Given the description of an element on the screen output the (x, y) to click on. 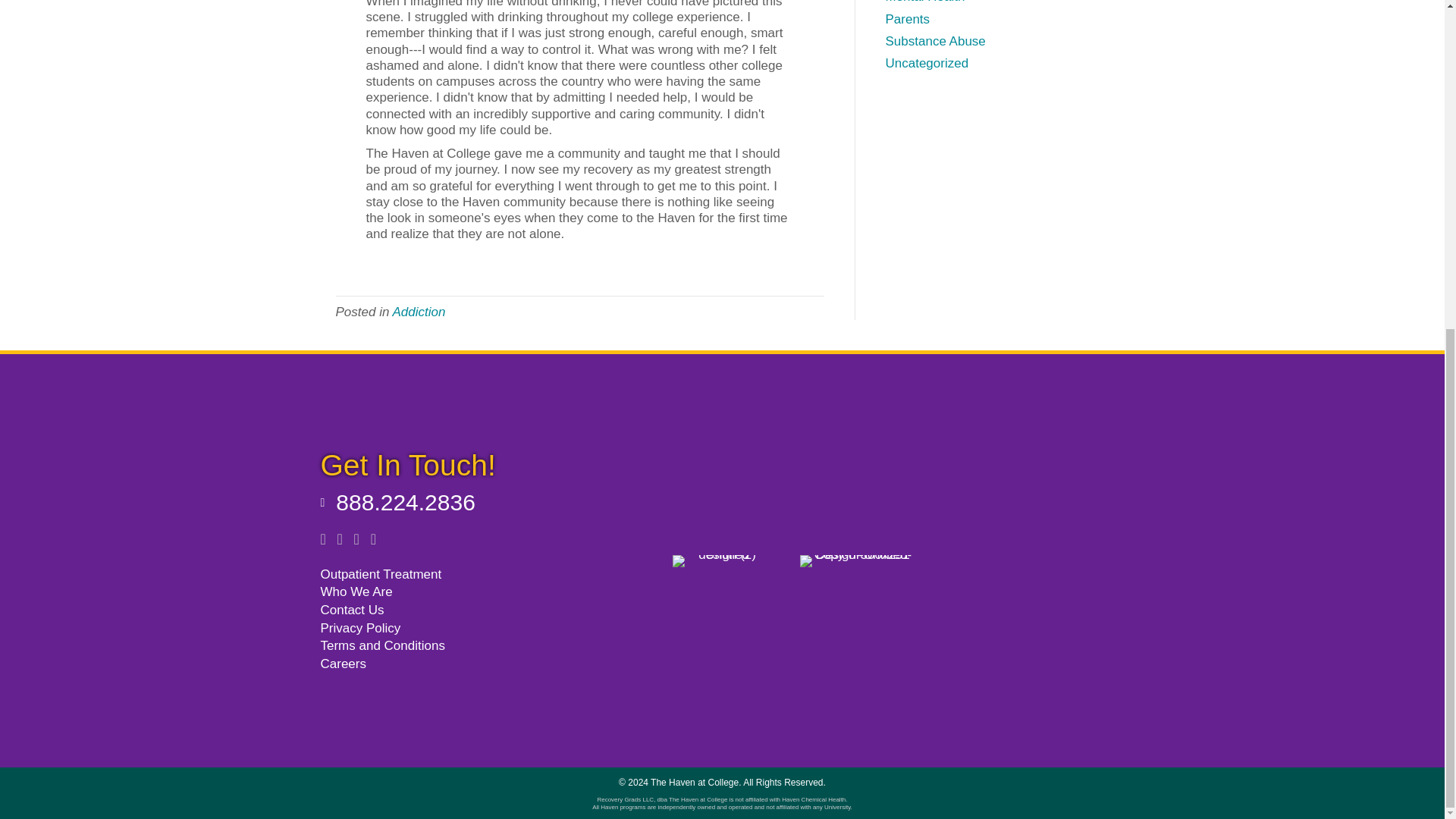
Parents (907, 19)
Uncategorized (927, 63)
Addiction (418, 311)
Copy-of-Untitled-Design-300x251 (856, 561)
Substance Abuse (935, 41)
Mental Health (925, 2)
